Given the description of an element on the screen output the (x, y) to click on. 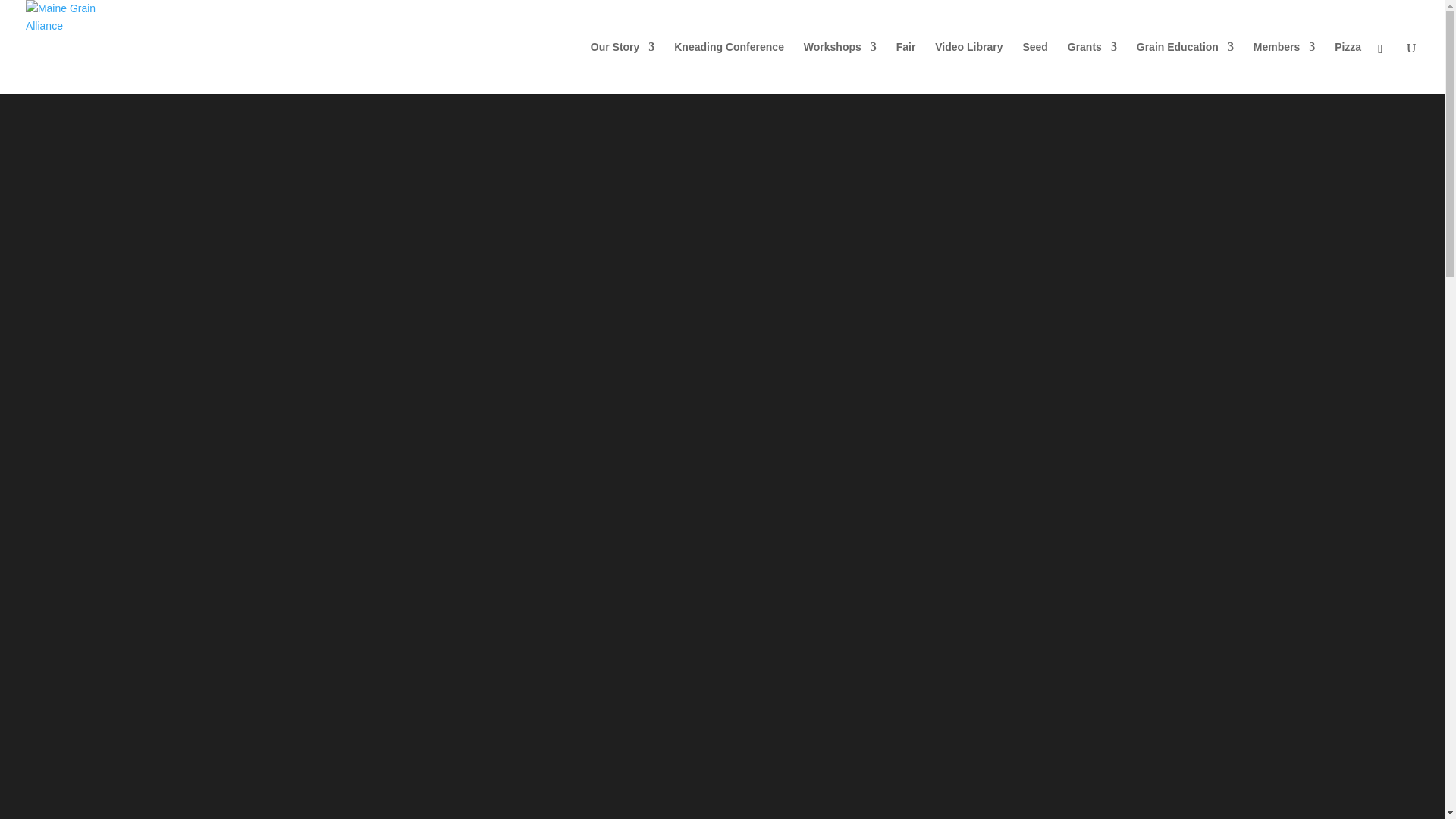
Video Library (968, 67)
Members (1283, 67)
Fair (905, 67)
Grain Education (1185, 67)
Seed (1034, 67)
Grants (1091, 67)
Workshops (839, 67)
Kneading Conference (729, 67)
Our Story (623, 67)
Pizza (1348, 67)
